Given the description of an element on the screen output the (x, y) to click on. 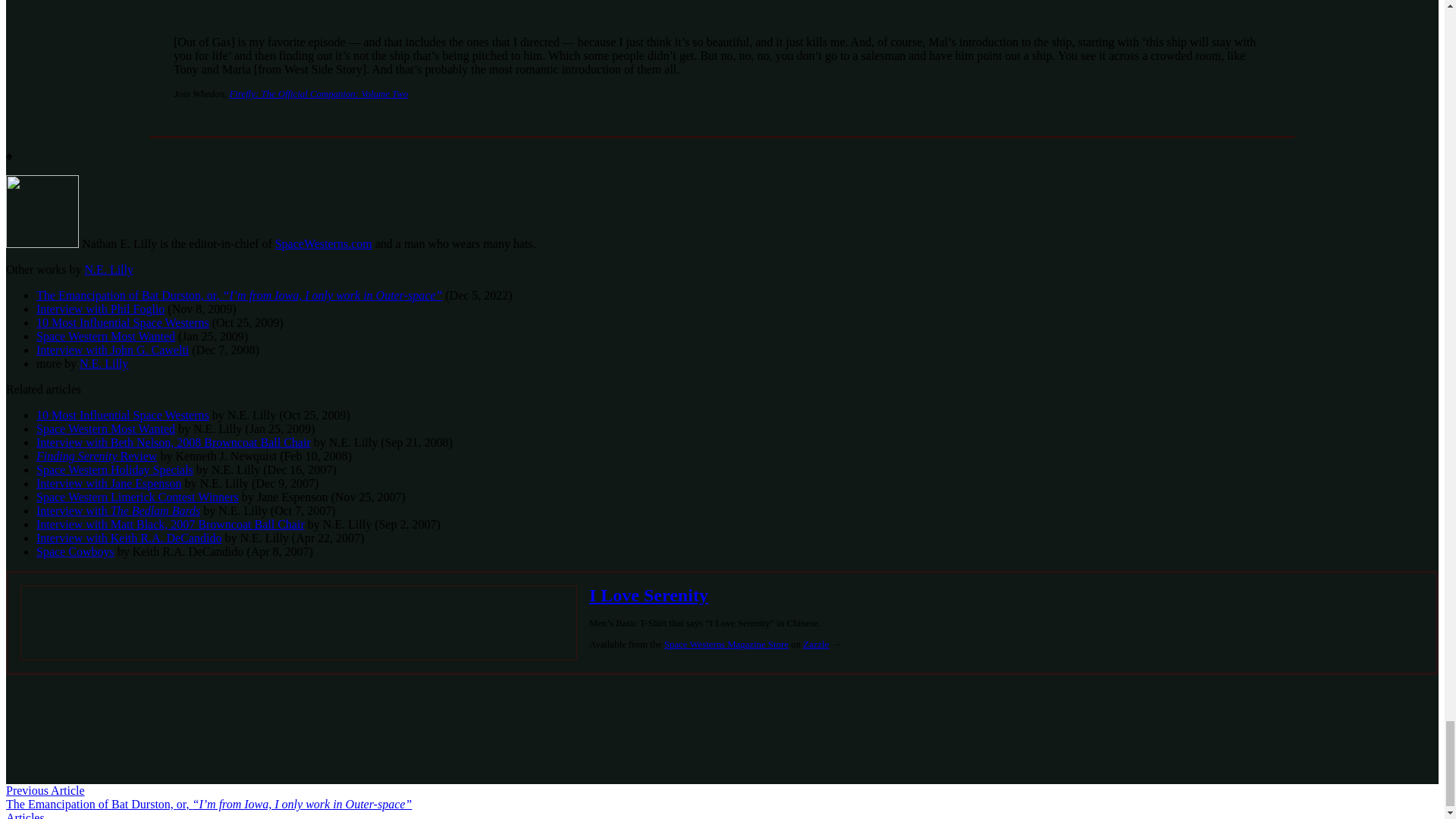
Space Western Most Wanted (105, 428)
Posts by N.E. Lilly (104, 363)
10 Most Influential Space Westerns (122, 414)
SpaceWesterns.com (323, 243)
Interview with Phil Foglio (100, 308)
Firefly: The Official Companion: Volume Two (317, 93)
N.E. Lilly (104, 363)
10 Most Influential Space Westerns (122, 322)
N.E. Lilly (108, 269)
